Given the description of an element on the screen output the (x, y) to click on. 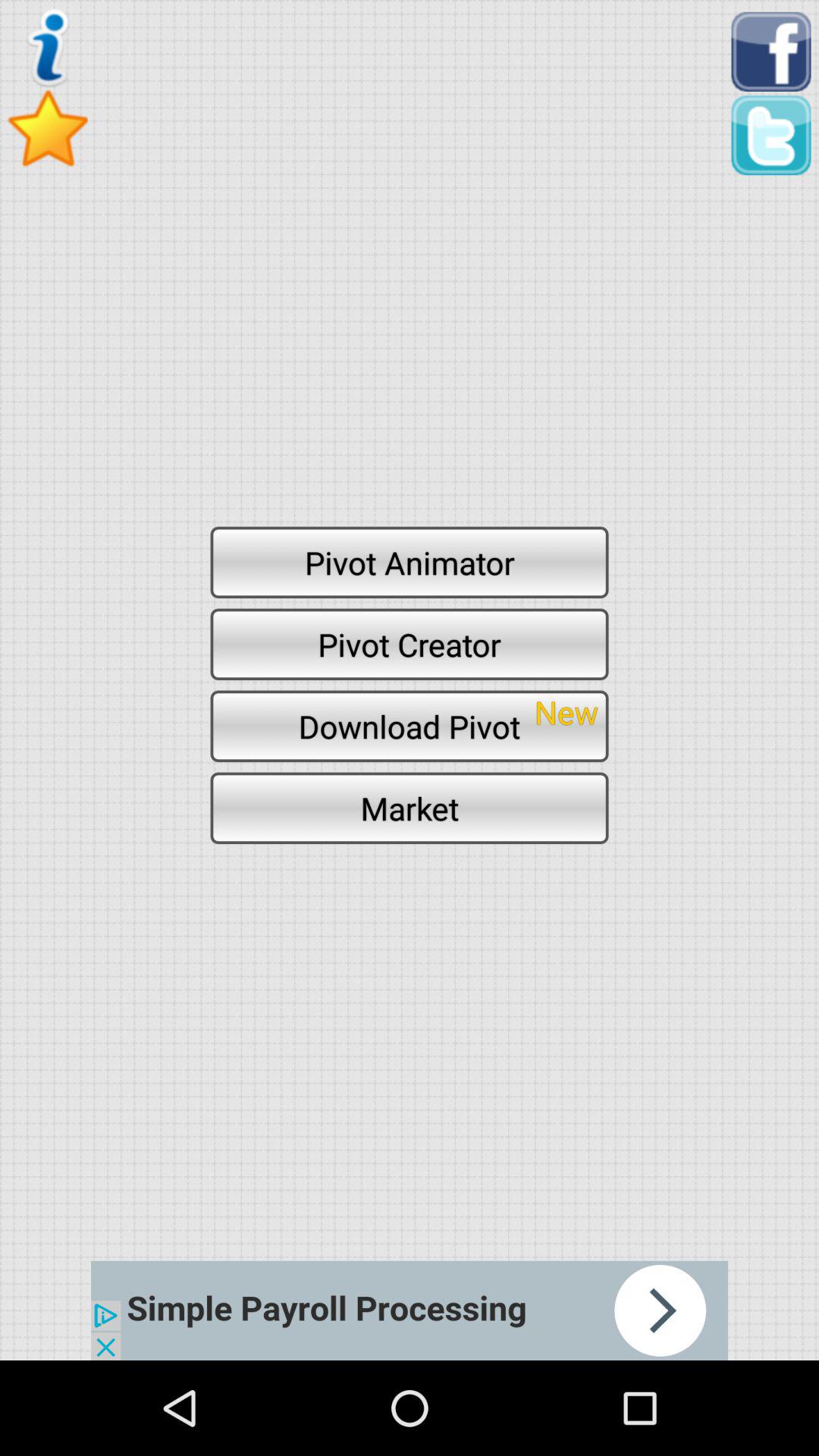
swipe until pivot creator icon (409, 644)
